Given the description of an element on the screen output the (x, y) to click on. 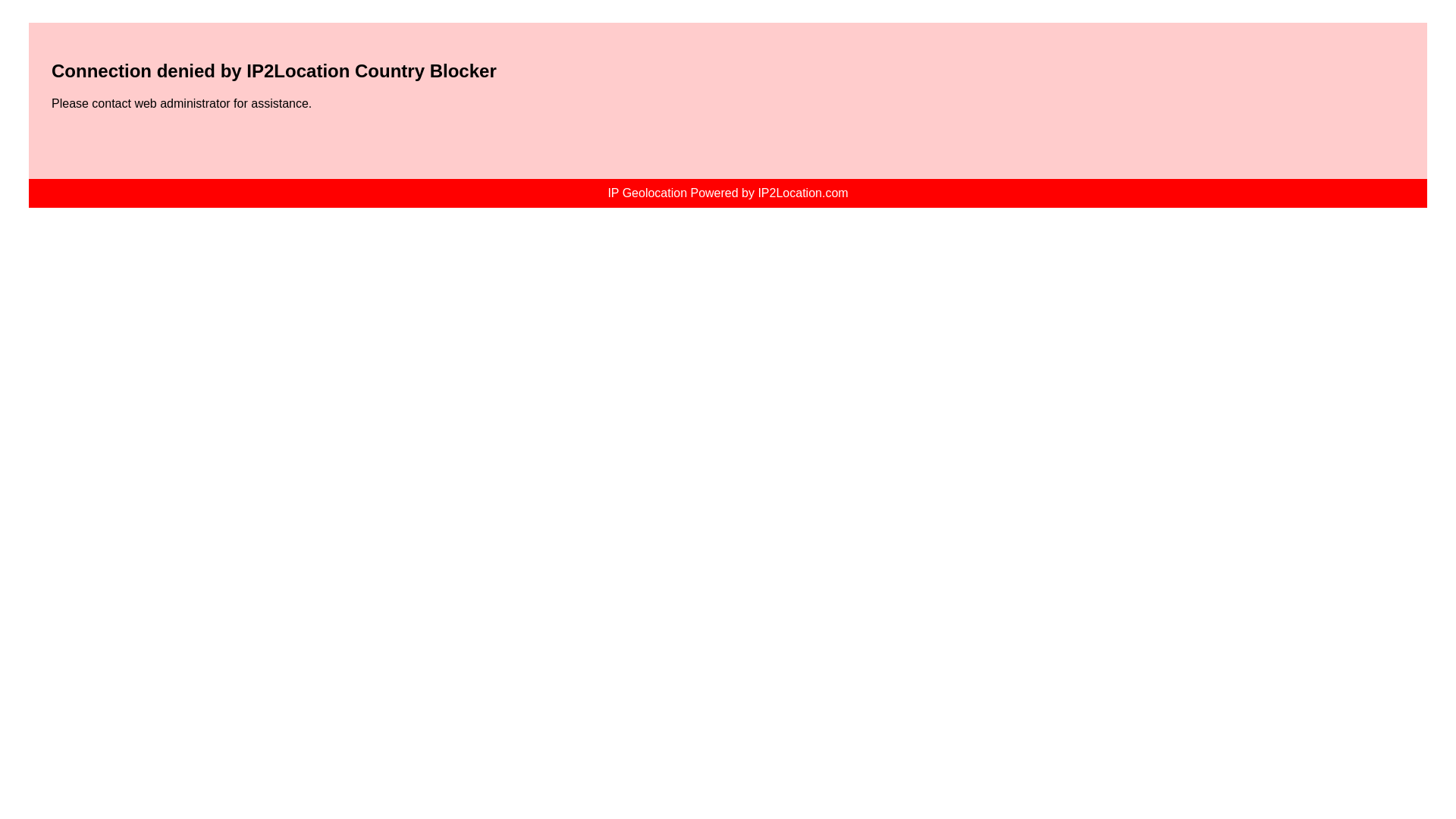
IP Geolocation Powered by IP2Location.com (727, 192)
